Given the description of an element on the screen output the (x, y) to click on. 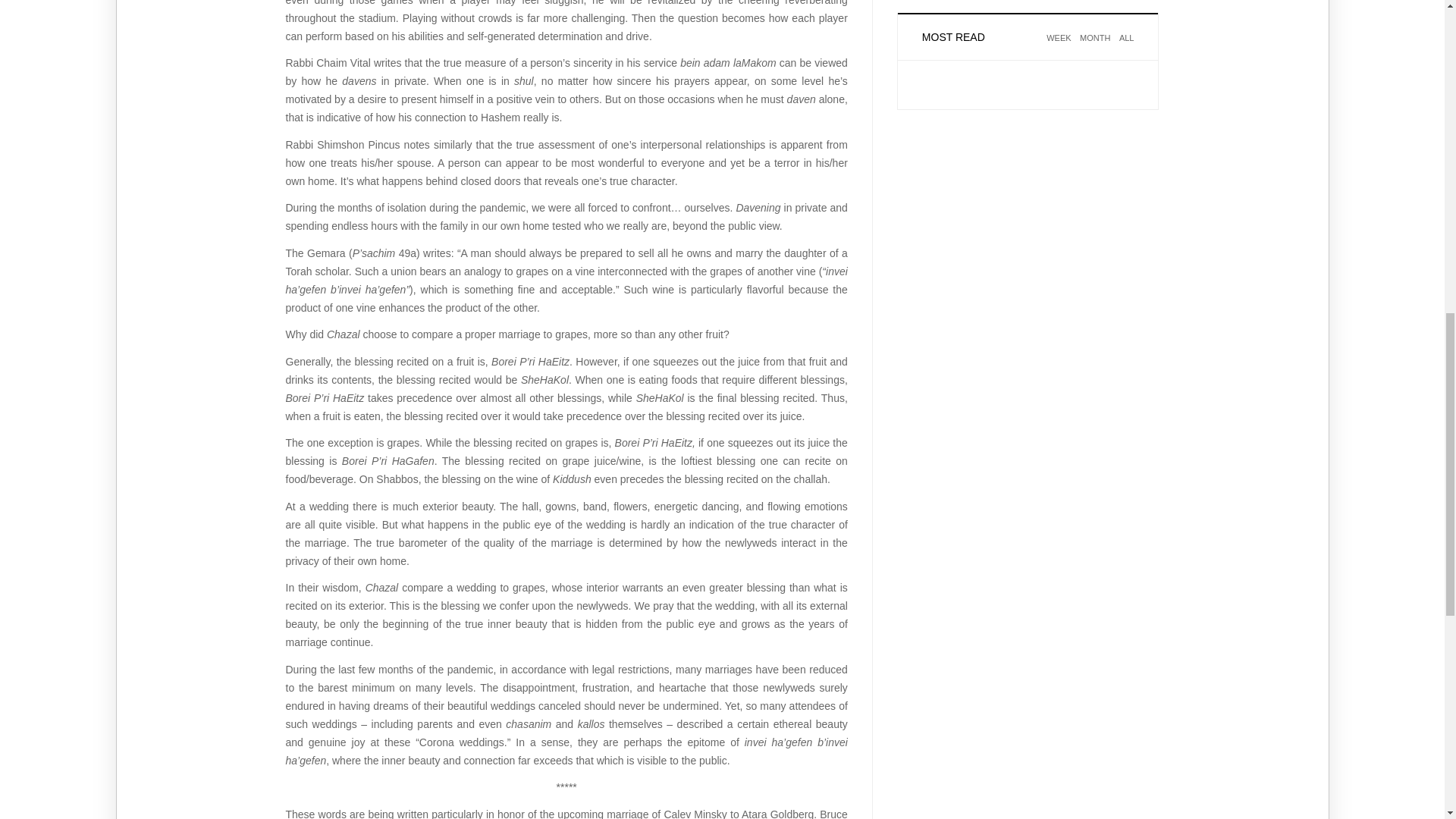
Week (1058, 47)
Month (1094, 47)
